Given the description of an element on the screen output the (x, y) to click on. 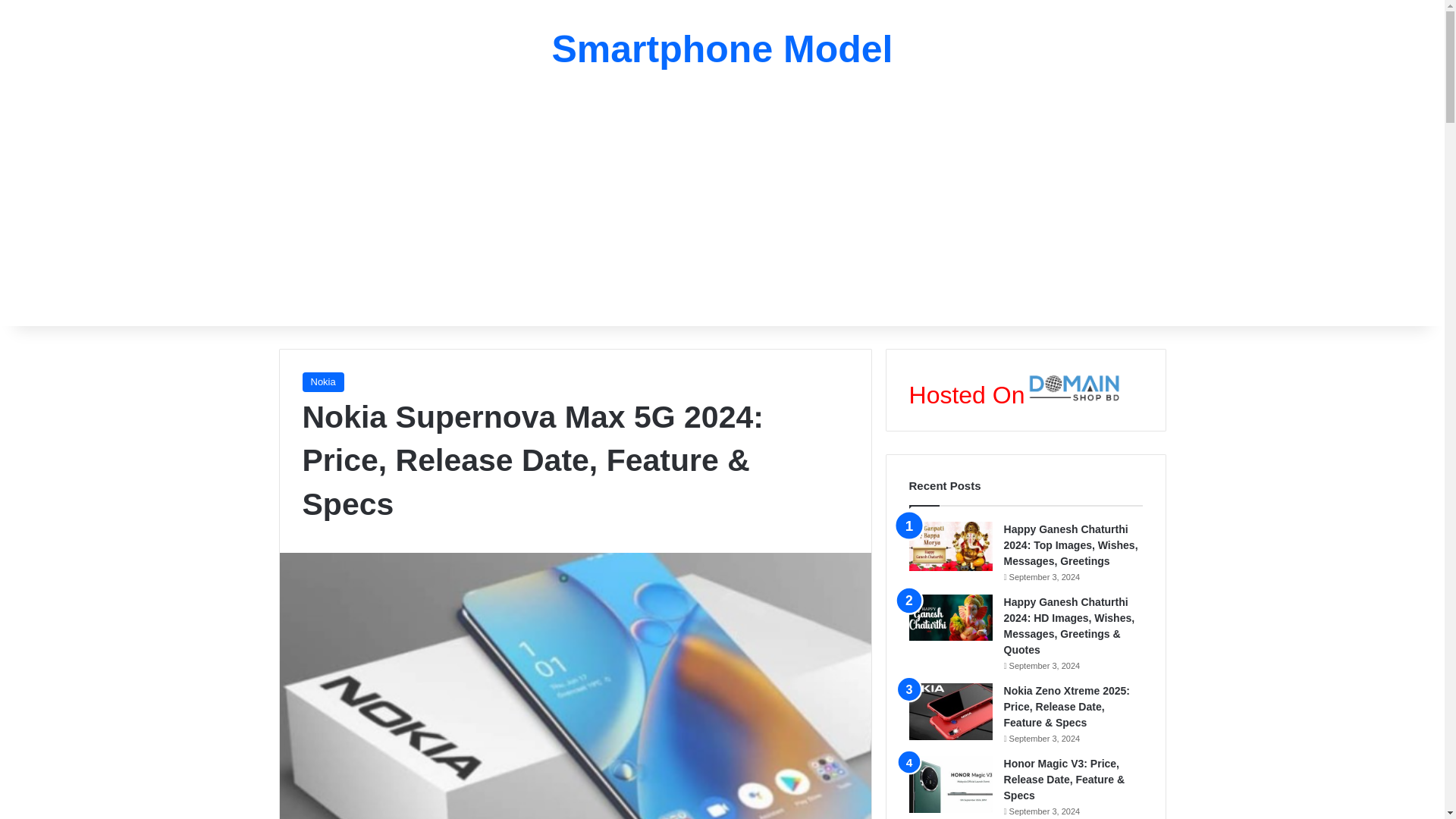
Smartphone Model (721, 48)
Smartphone Model (721, 48)
Nokia (322, 382)
